Given the description of an element on the screen output the (x, y) to click on. 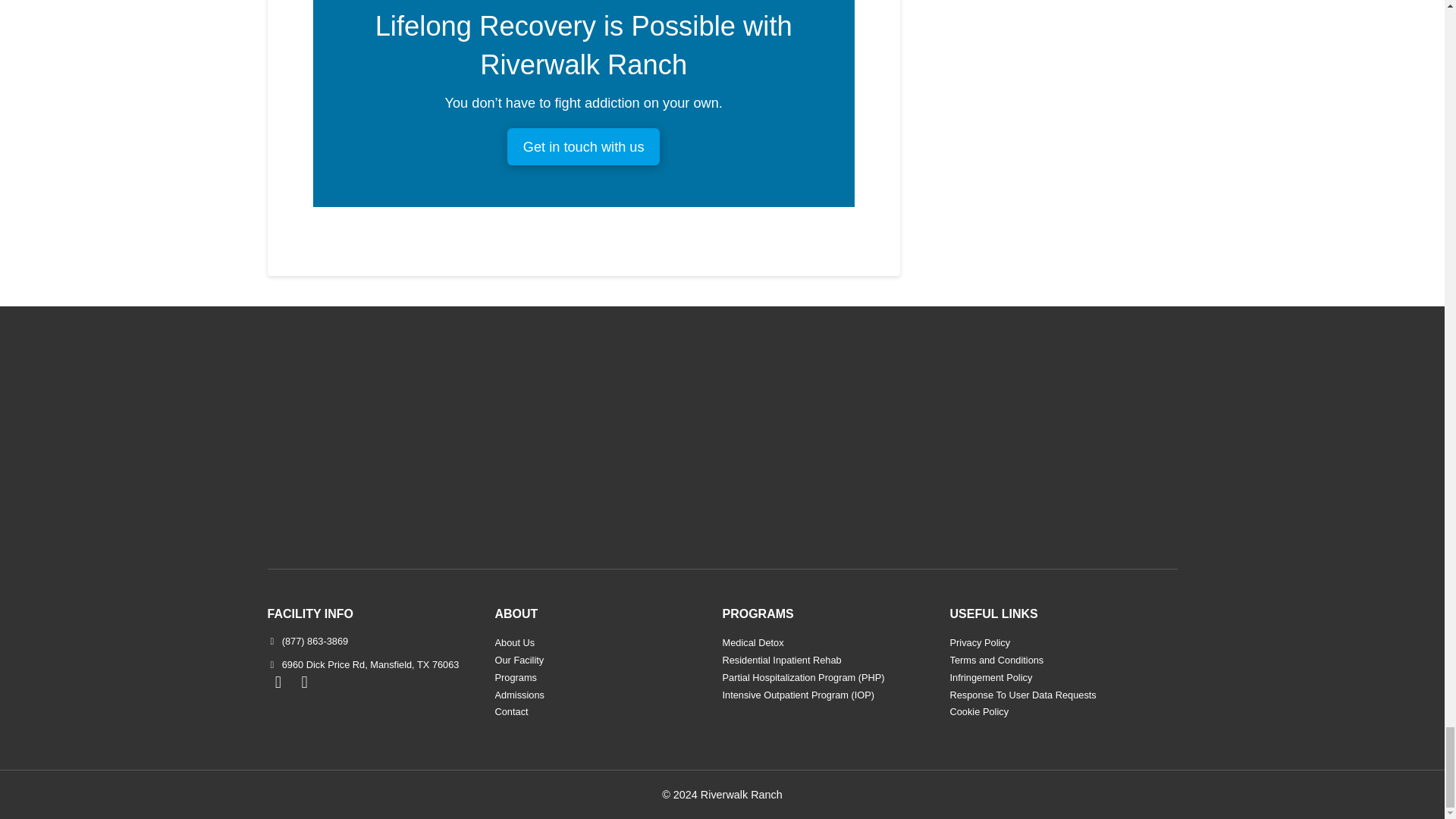
Terms and Conditions (997, 660)
About Us (516, 642)
Residential Inpatient Rehab (783, 660)
6960 Dick Price Rd, Mansfield, TX 76063 (362, 664)
Contact (513, 712)
Privacy Policy (981, 642)
Our Facility (521, 660)
Get in touch with us (582, 146)
Admissions (521, 695)
Programs (517, 678)
